Given the description of an element on the screen output the (x, y) to click on. 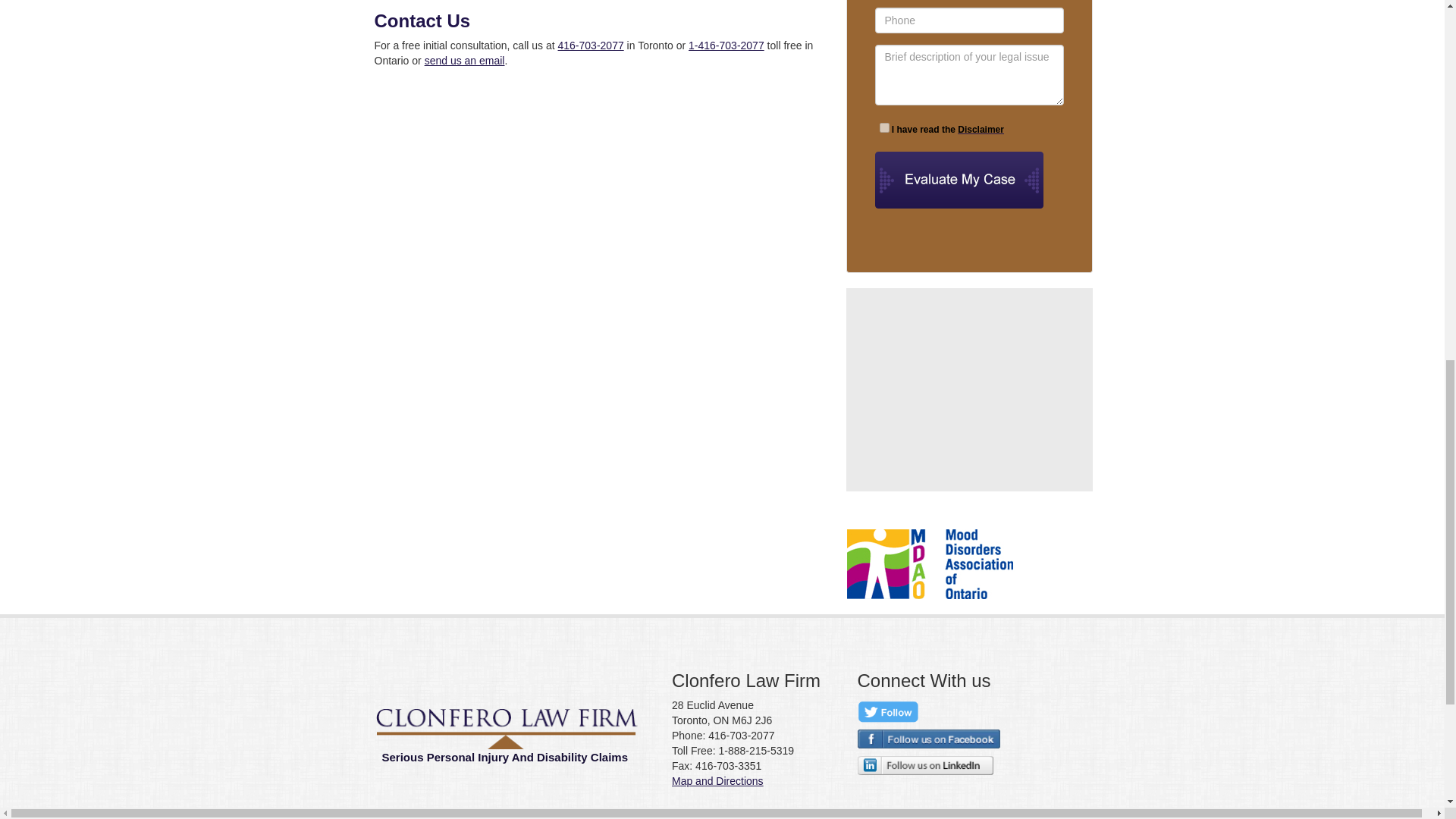
416-703-2077 (590, 45)
Map and Directions (716, 780)
Send (969, 179)
send us an email (465, 60)
Disclaimer (981, 129)
Send (969, 179)
I have read the (884, 127)
1-416-703-2077 (726, 45)
